Given the description of an element on the screen output the (x, y) to click on. 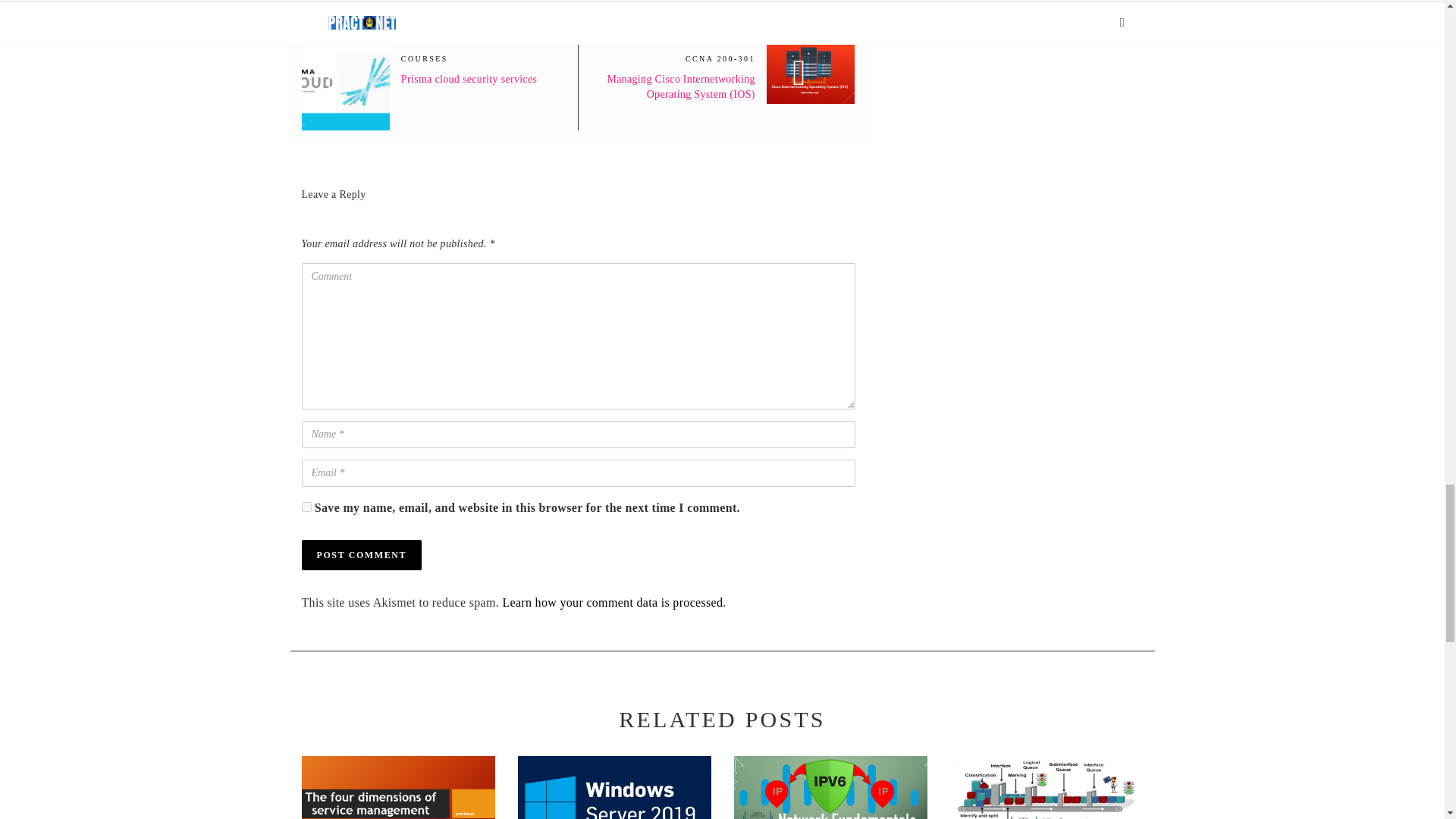
Active Directory (613, 787)
yes (306, 506)
Post Comment (361, 554)
Compare IPv6 address types (830, 787)
Four dimensions of service management (398, 787)
